Given the description of an element on the screen output the (x, y) to click on. 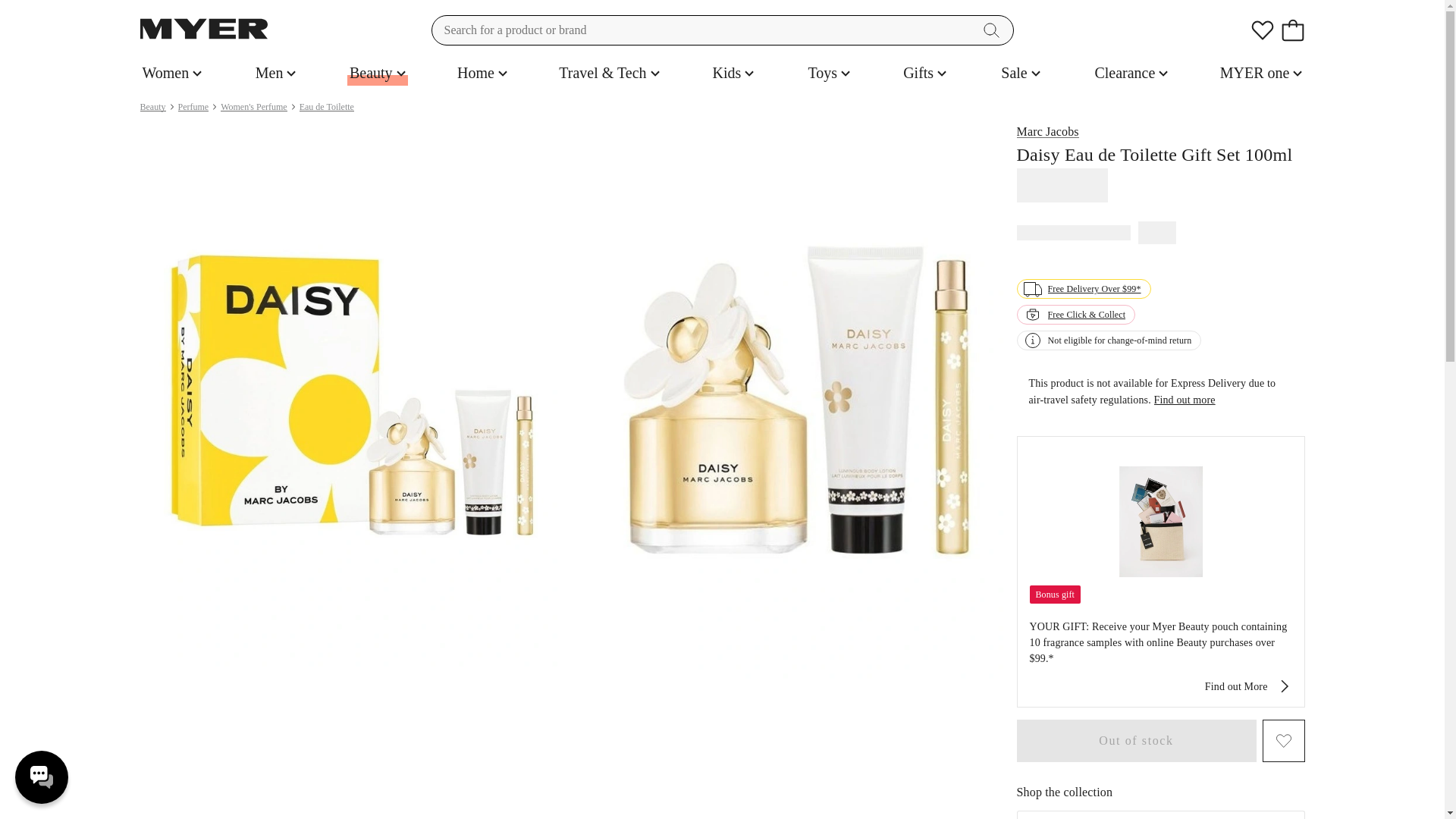
Toys (829, 72)
MYER one (1260, 72)
Men (275, 72)
Bonus gift (1055, 593)
Clearance (1131, 72)
Home (481, 72)
Find out more (1184, 399)
Women (171, 72)
Out of stock (1135, 740)
Beauty (377, 72)
